Given the description of an element on the screen output the (x, y) to click on. 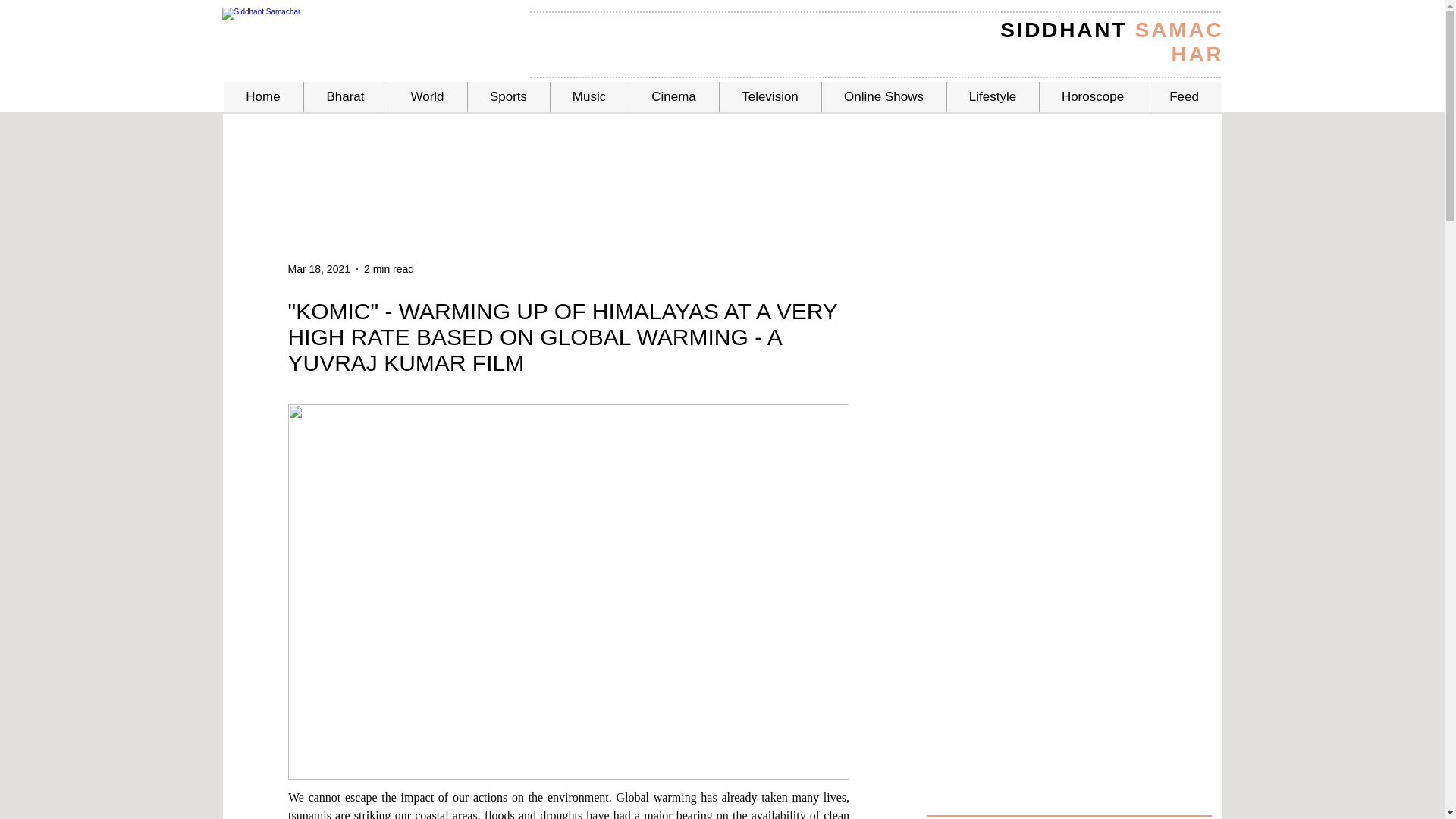
Horoscope (1093, 96)
Home (262, 96)
Feed (1184, 96)
World (426, 96)
Mar 18, 2021 (319, 268)
Sports (508, 96)
Cinema (672, 96)
Siddhant Samachar (352, 30)
2 min read (388, 268)
Television (770, 96)
